Given the description of an element on the screen output the (x, y) to click on. 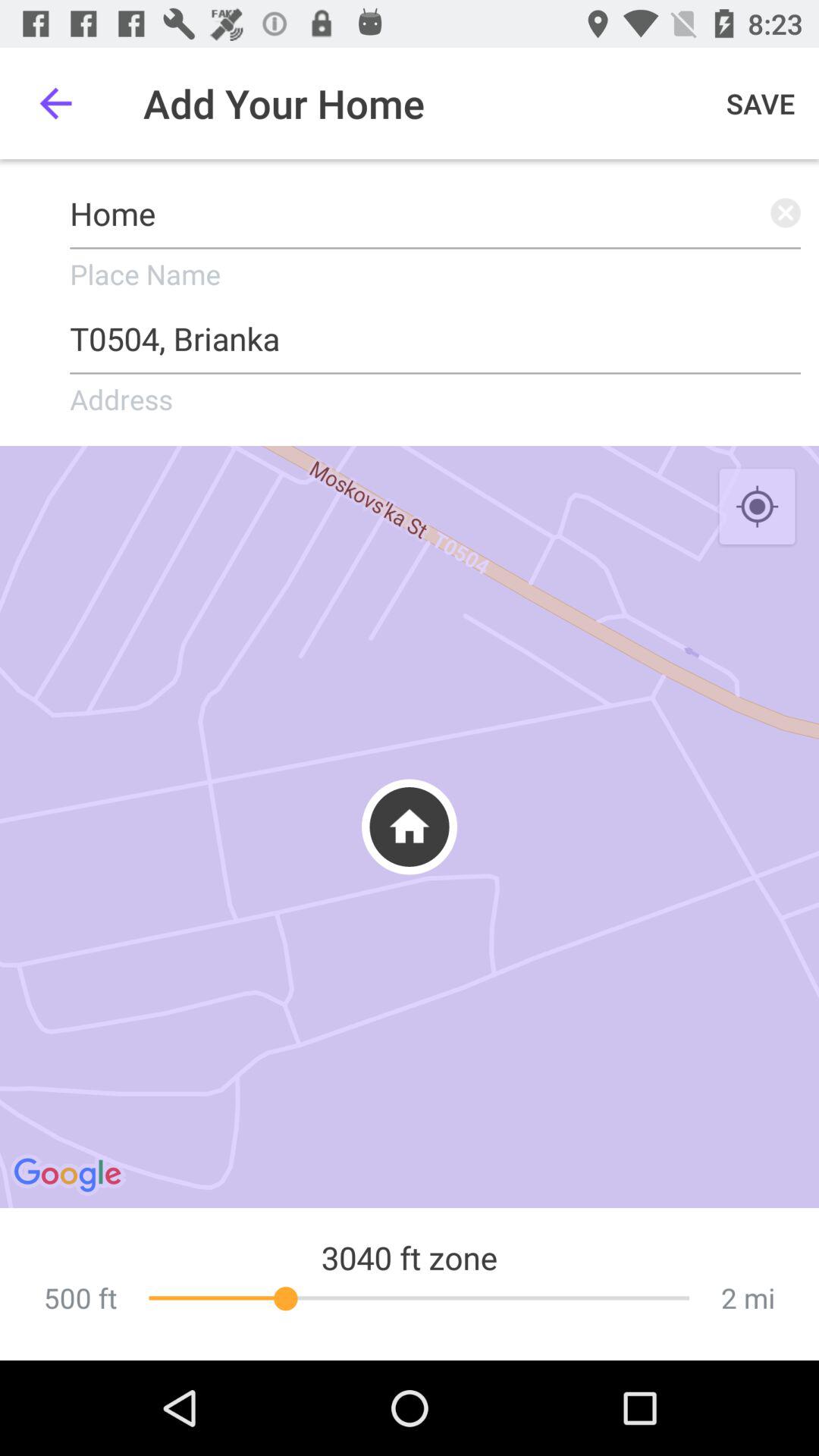
jump until the save icon (760, 103)
